Given the description of an element on the screen output the (x, y) to click on. 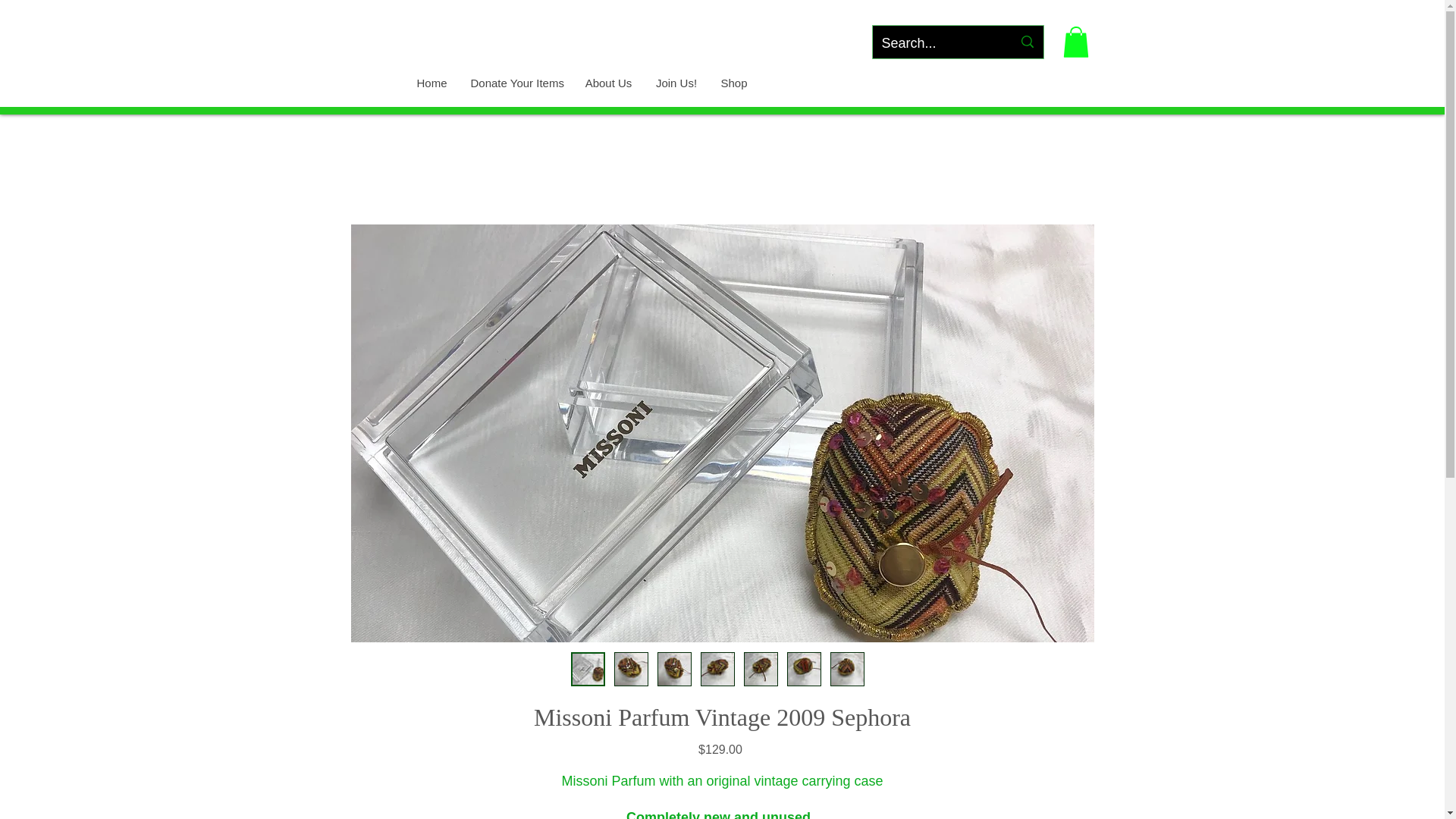
Log In (994, 8)
Donate Your Items (515, 82)
About Us (608, 82)
Home (431, 82)
Join Us! (675, 82)
Shop (732, 82)
